Given the description of an element on the screen output the (x, y) to click on. 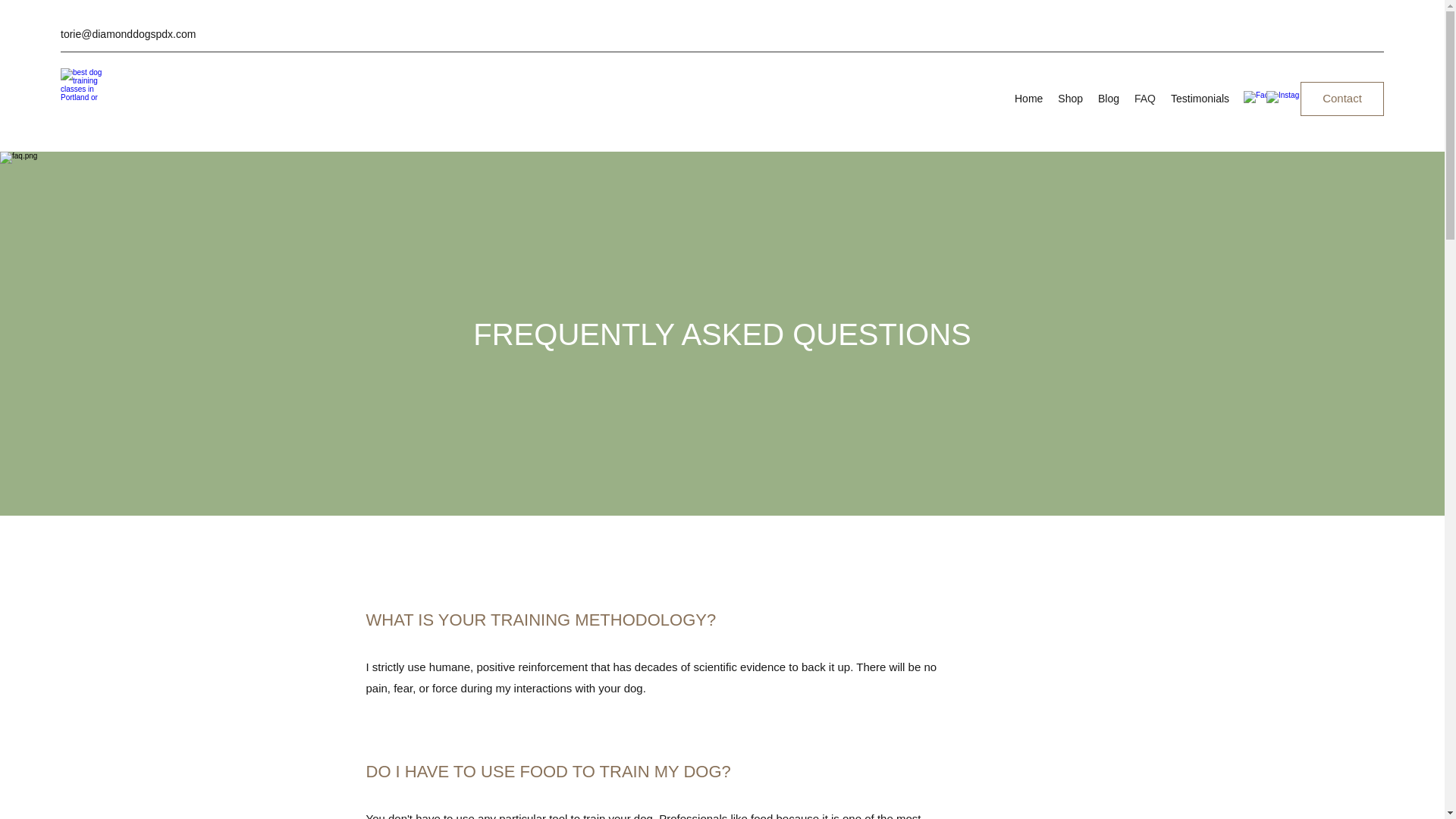
Home (1028, 97)
Blog (1108, 97)
FAQ (1144, 97)
Shop (1069, 97)
Testimonials (1199, 97)
Contact (1342, 98)
